Given the description of an element on the screen output the (x, y) to click on. 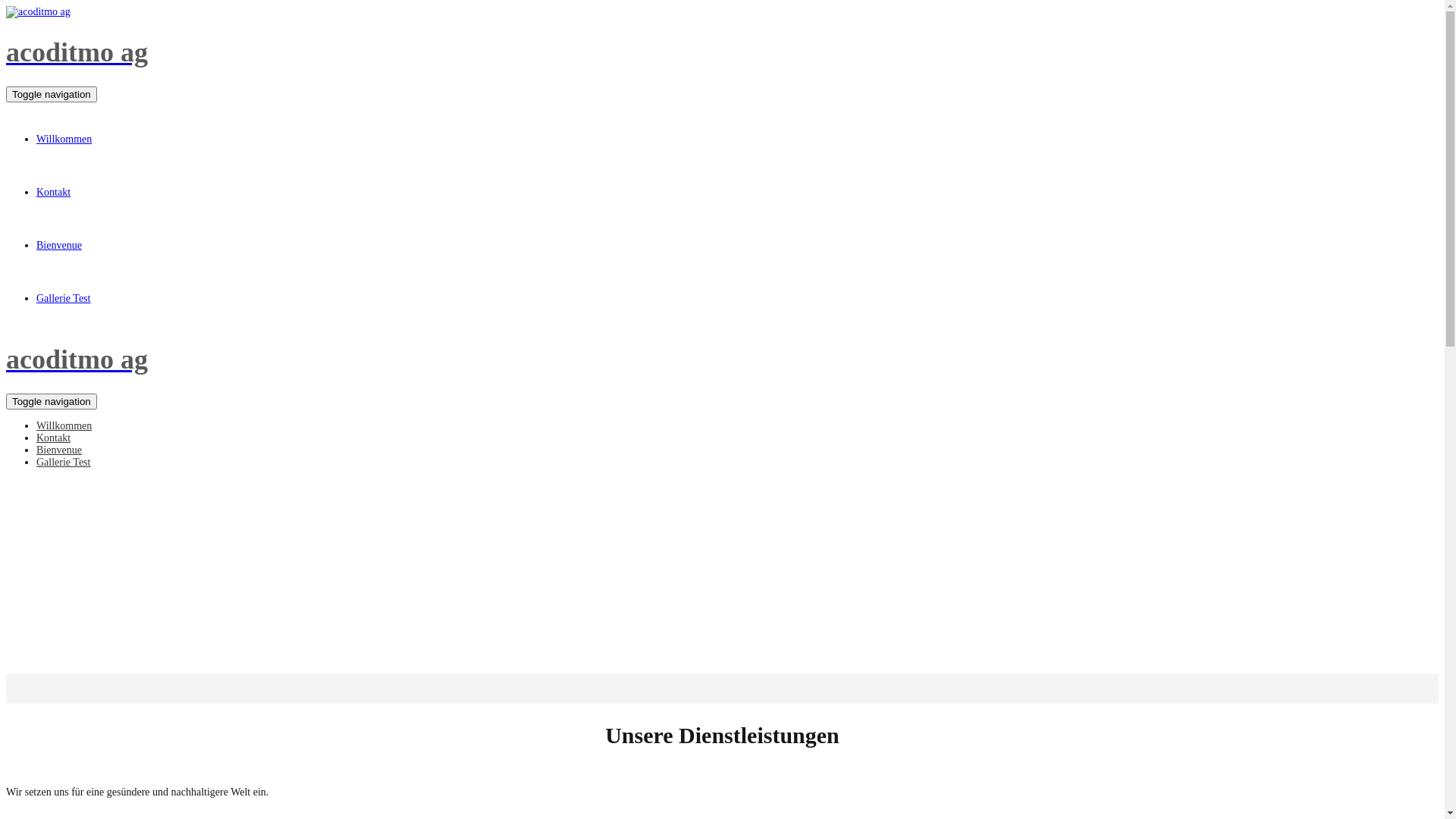
Gallerie Test Element type: text (63, 462)
Toggle navigation Element type: text (51, 401)
Kontakt Element type: text (53, 438)
Toggle navigation Element type: text (51, 94)
acoditmo ag Element type: text (722, 52)
Willkommen Element type: text (63, 139)
Kontakt Element type: text (53, 192)
Gallerie Test Element type: text (63, 298)
Bienvenue Element type: text (58, 245)
Bienvenue Element type: text (58, 450)
acoditmo ag Element type: text (722, 359)
Willkommen Element type: text (63, 426)
